Given the description of an element on the screen output the (x, y) to click on. 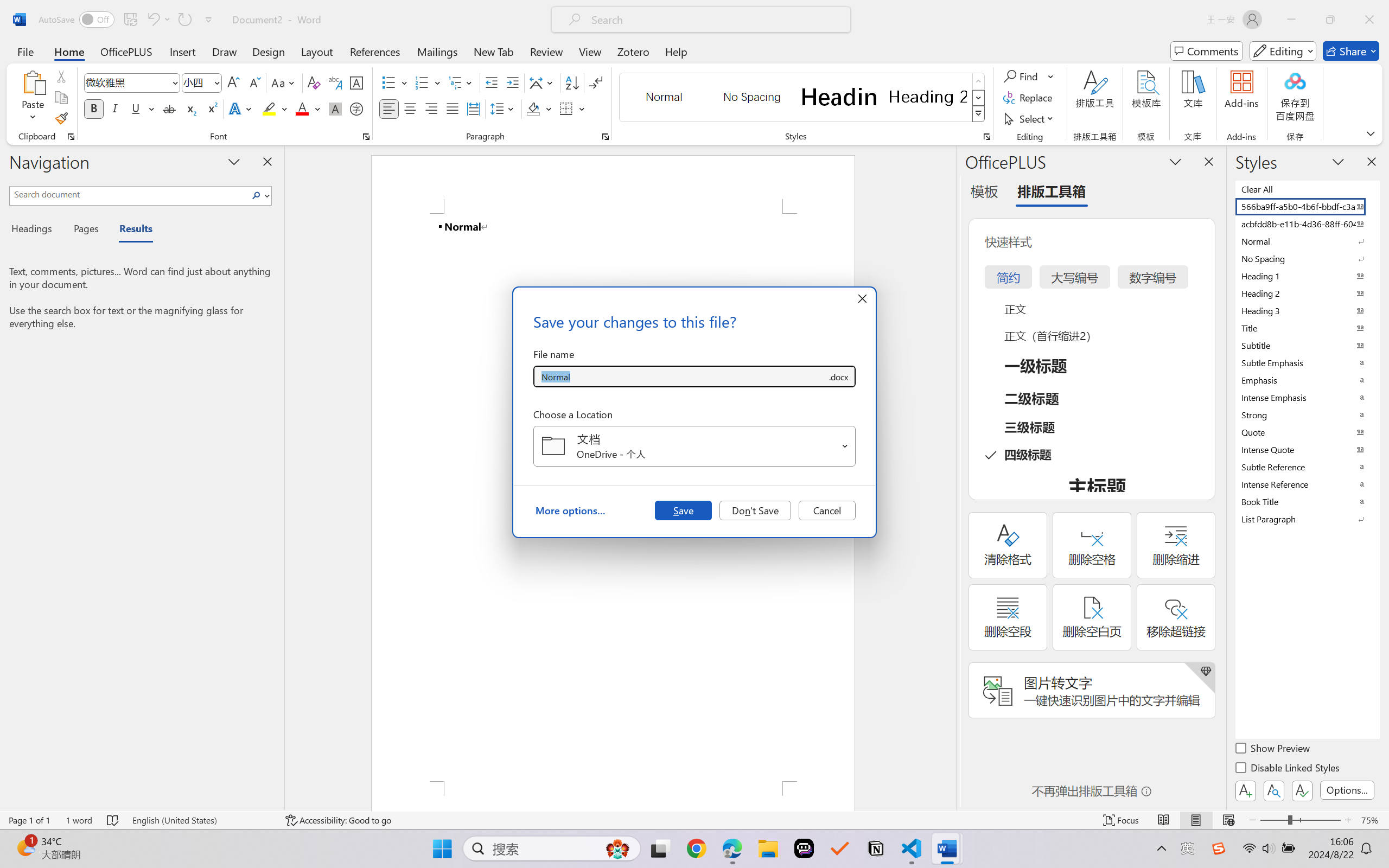
Notion (875, 848)
Undo <ApplyStyleToDoc>b__0 (152, 19)
Spelling and Grammar Check No Errors (113, 819)
Change Case (284, 82)
Styles... (986, 136)
Row Down (978, 97)
Character Border (356, 82)
Intense Reference (1306, 484)
Superscript (210, 108)
